Given the description of an element on the screen output the (x, y) to click on. 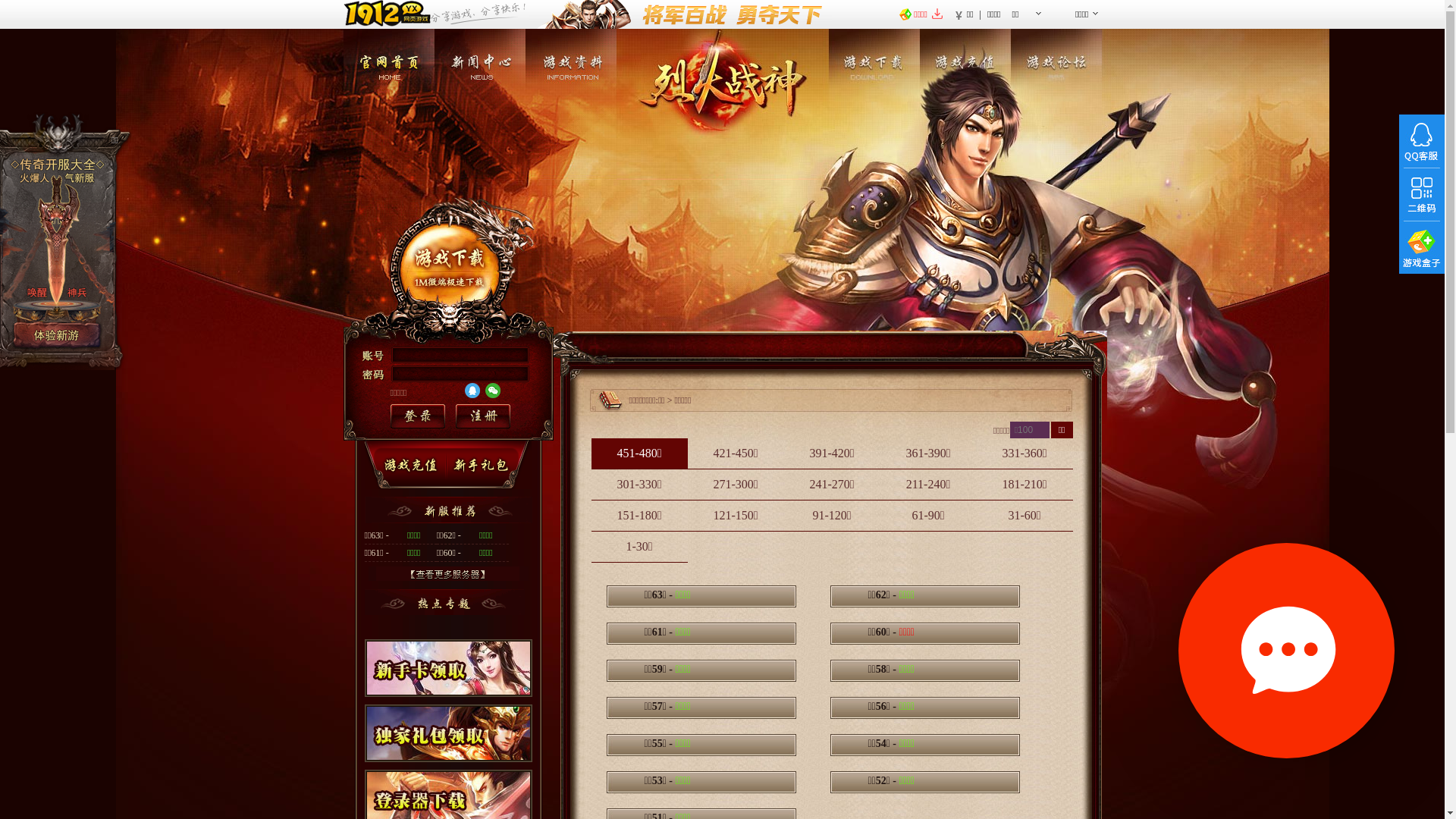
QQ Element type: hover (471, 390)
